Given the description of an element on the screen output the (x, y) to click on. 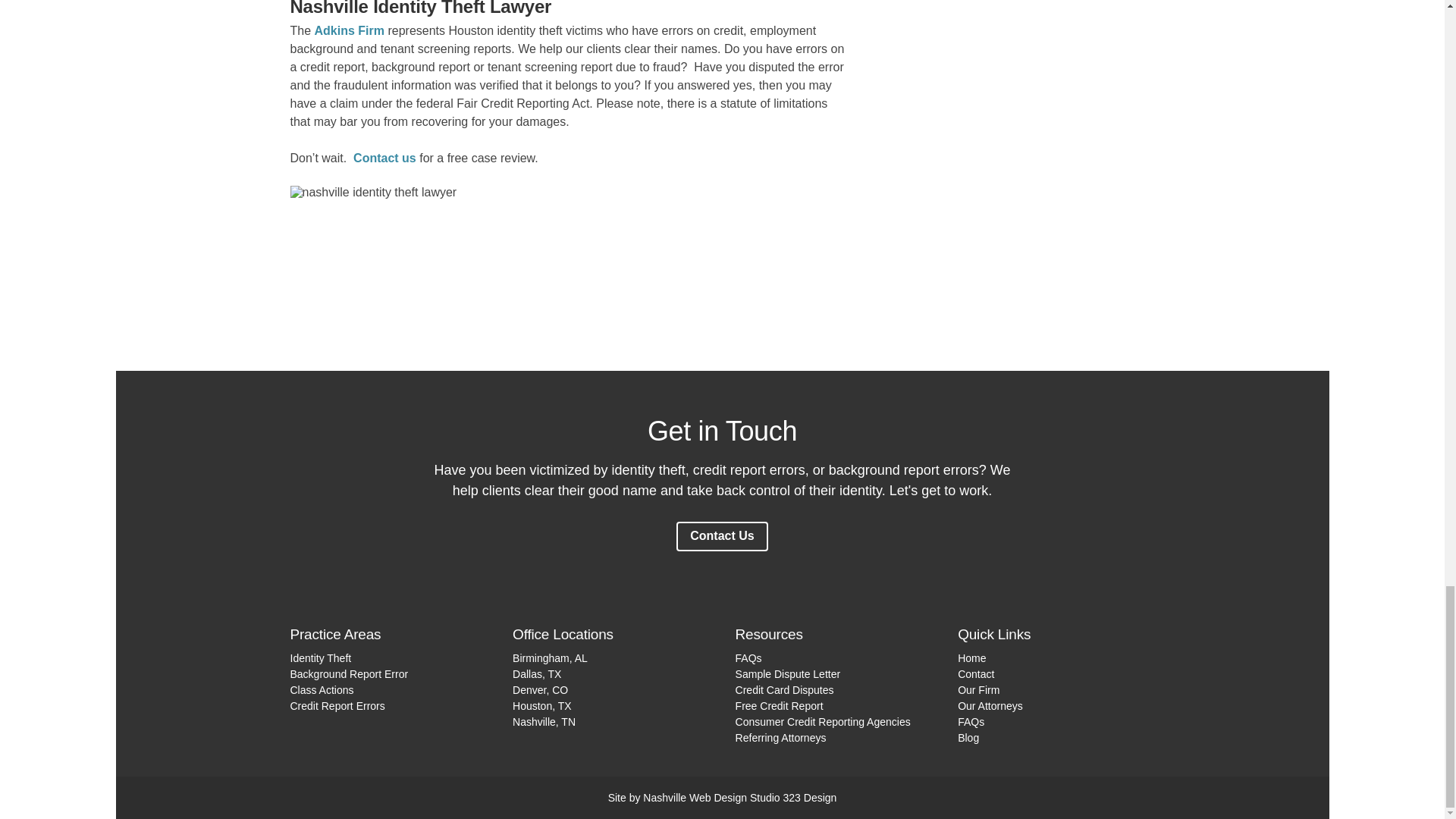
Contact Identity Theft Attorneys Near Me (976, 674)
Background Report Error Lawyers (348, 674)
Contact us (384, 157)
Class Actions (321, 689)
Adkins Firm (349, 30)
Contact Us (722, 534)
How to order free credit report (779, 705)
The Adkins Firm Identity Theft Lawyers (978, 689)
Denver, CO (539, 689)
Credit Report Errors Lawyer (336, 705)
Identity Theft (319, 657)
Identity Theft Lawyers (319, 657)
Micah Adkins Identity Theft Attorney and Lawyer (990, 705)
Background Report Error (348, 674)
Contact Us (722, 536)
